Given the description of an element on the screen output the (x, y) to click on. 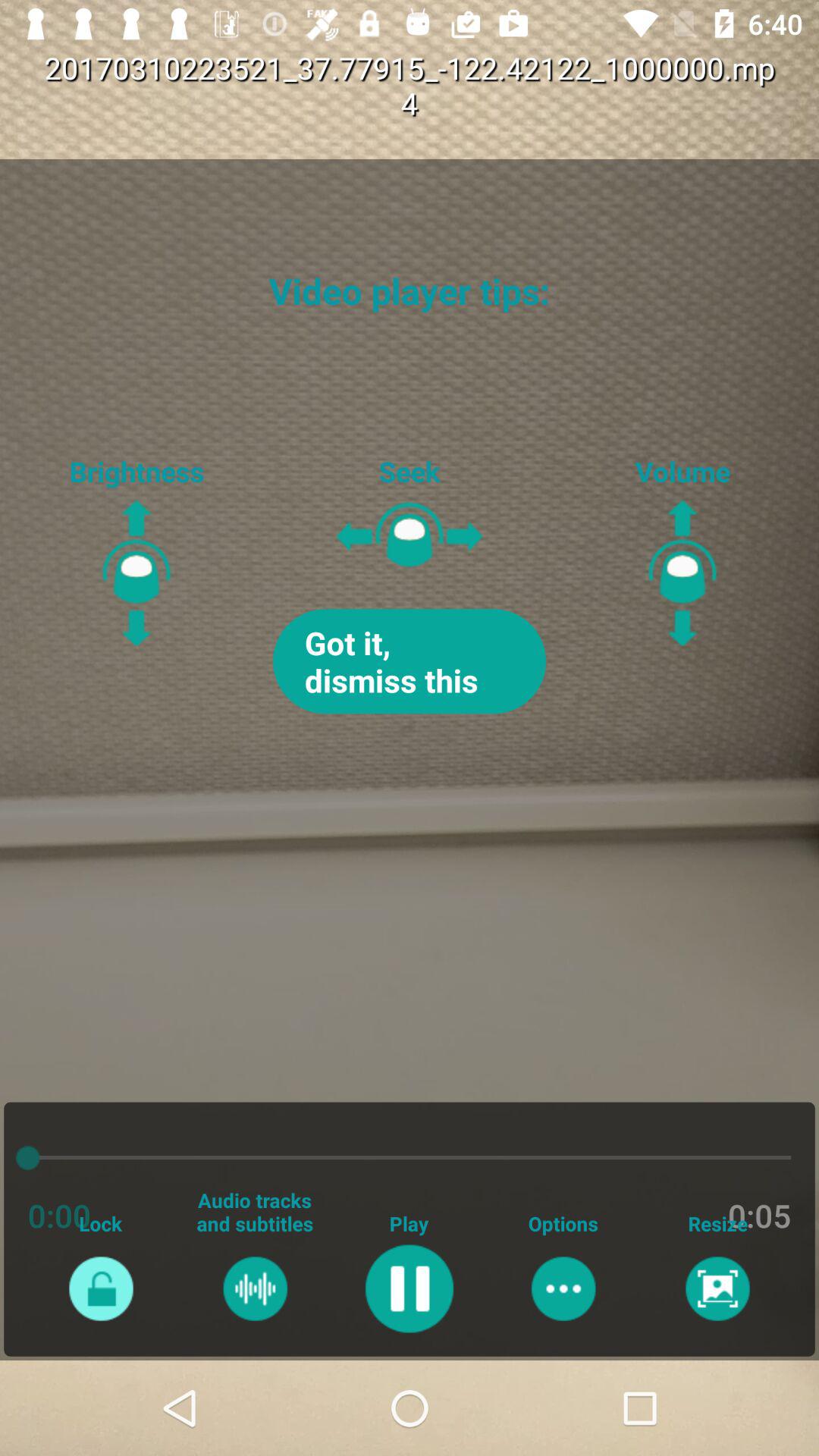
stop playing (409, 1288)
